Given the description of an element on the screen output the (x, y) to click on. 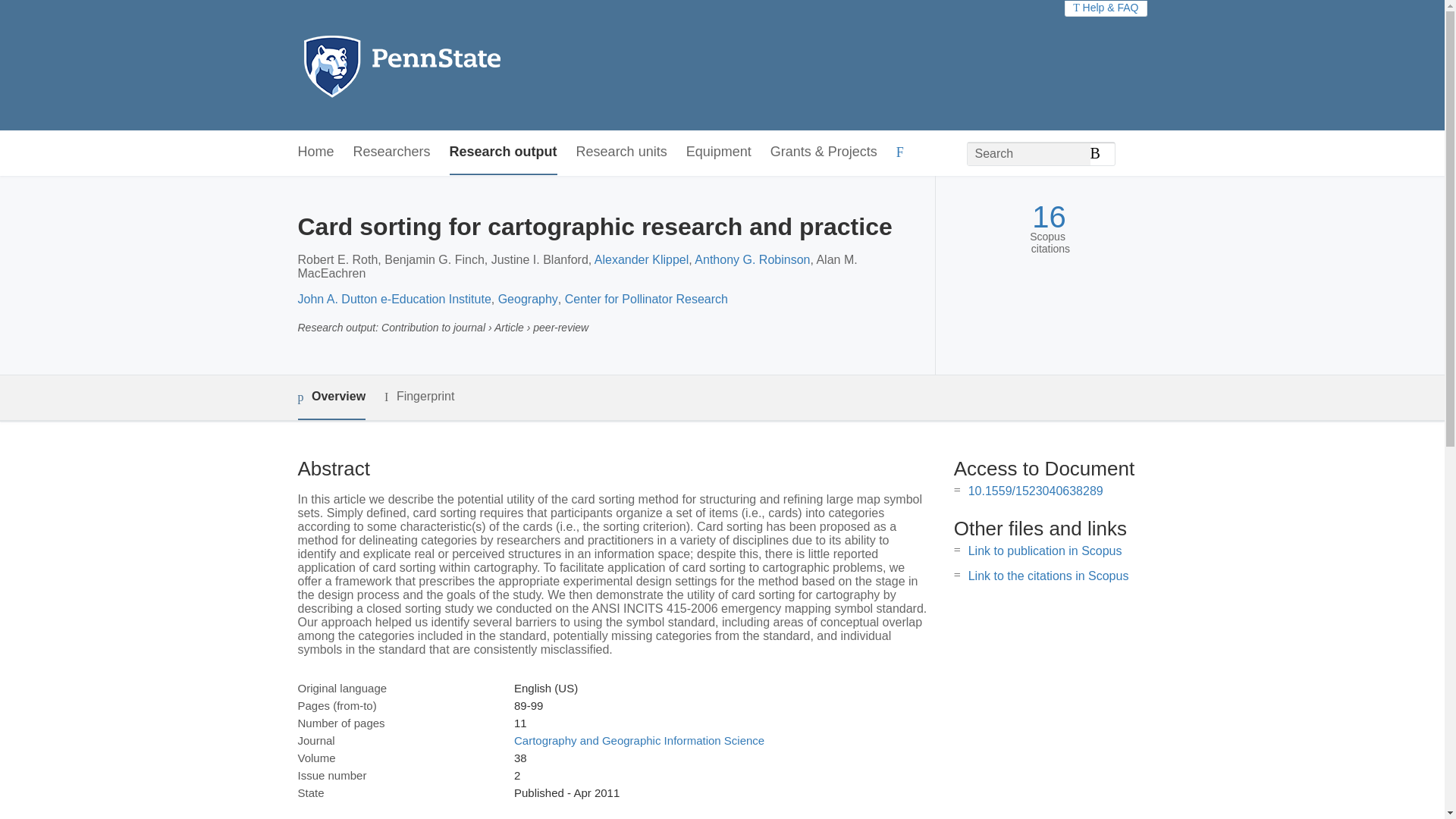
Penn State Home (467, 65)
Researchers (391, 152)
Cartography and Geographic Information Science (638, 739)
Anthony G. Robinson (751, 259)
Overview (331, 397)
Research output (503, 152)
Research units (621, 152)
Geography (527, 298)
Equipment (718, 152)
